Given the description of an element on the screen output the (x, y) to click on. 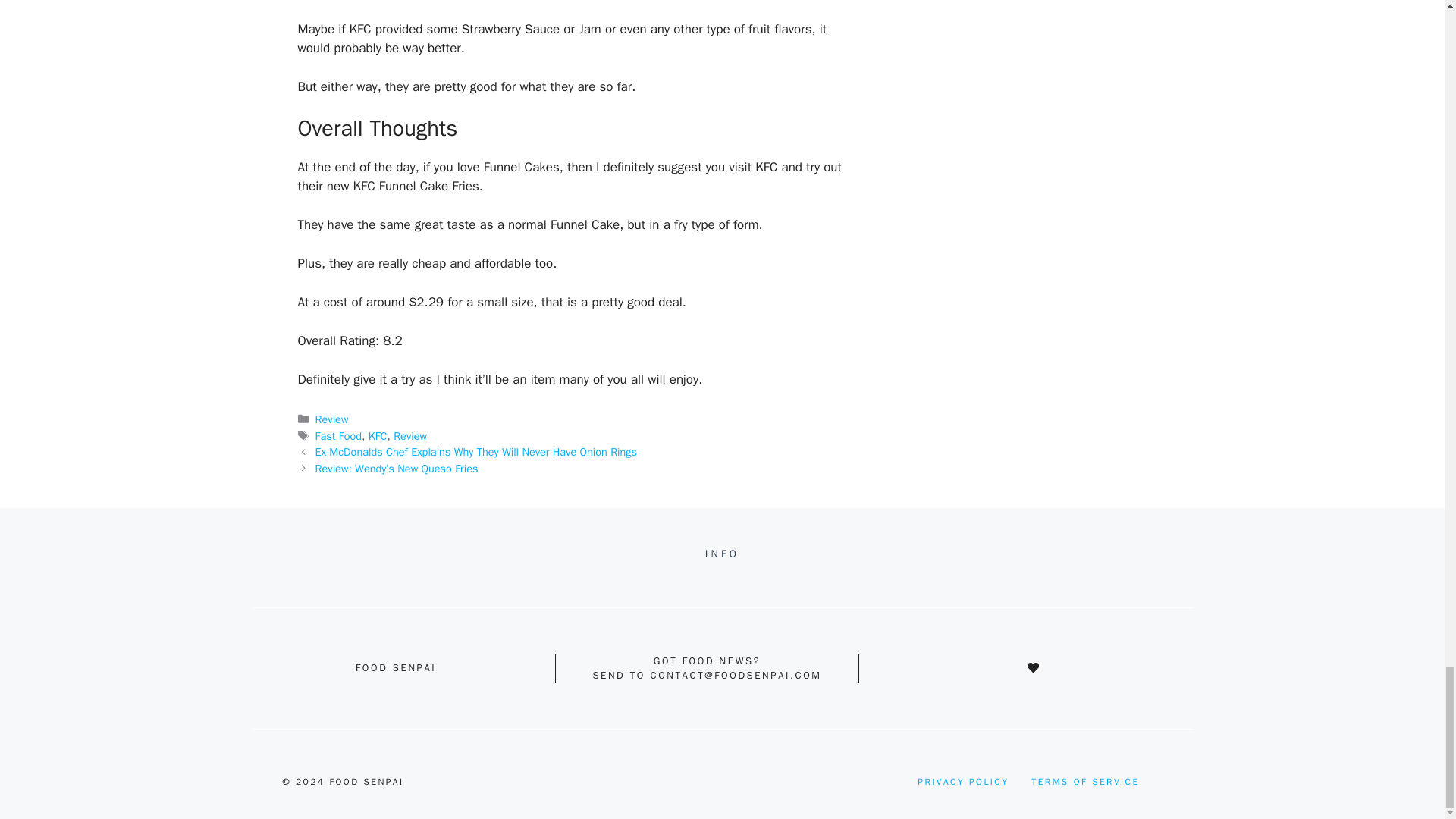
KFC (377, 436)
Review (332, 418)
TERMS OF SERVICE (1084, 781)
Fast Food (338, 436)
PRIVACY POLICY (963, 781)
Review (409, 436)
